Given the description of an element on the screen output the (x, y) to click on. 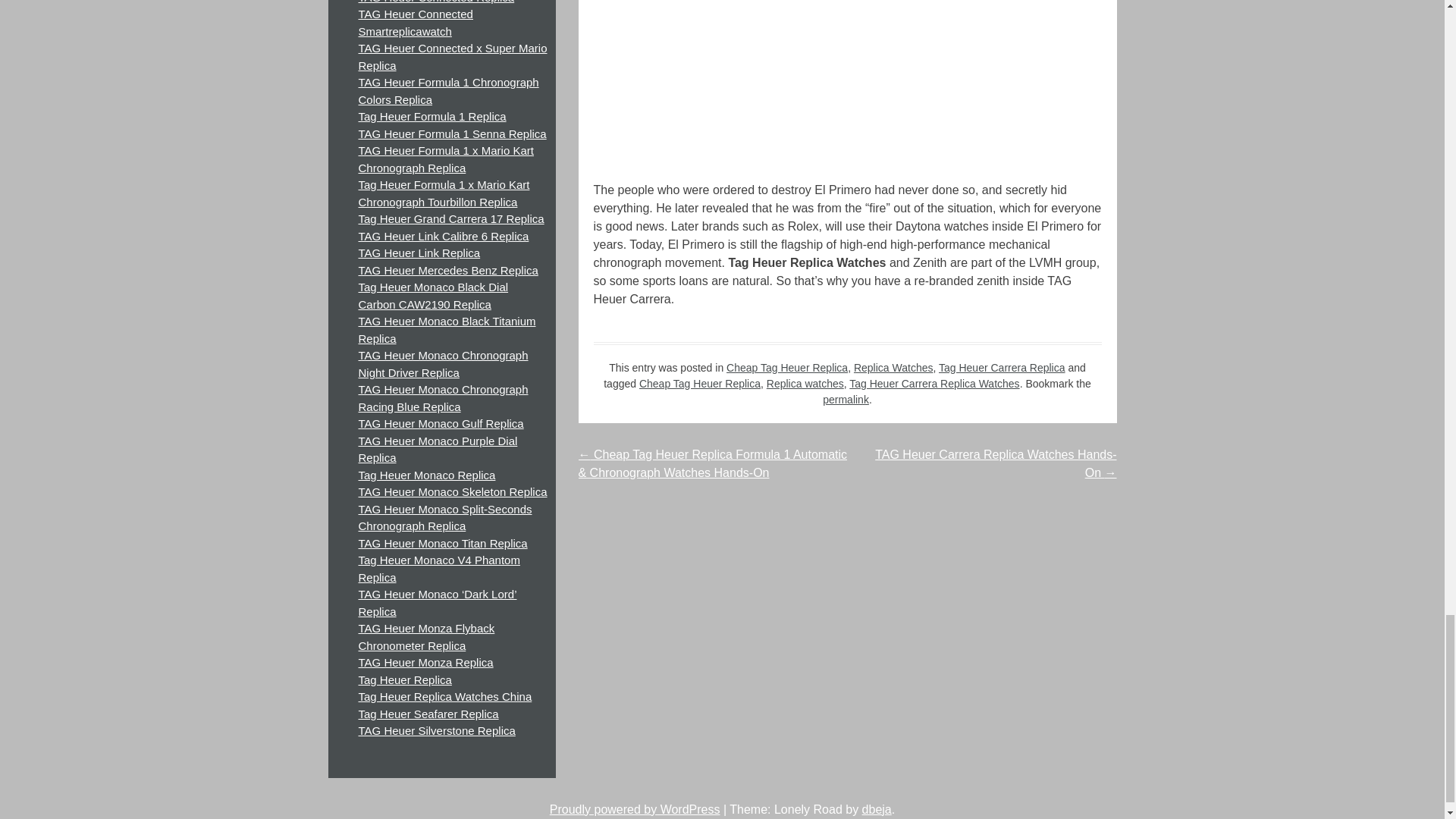
permalink (845, 399)
Replica Watches (893, 367)
Cheap Tag Heuer Replica (699, 383)
Replica watches (805, 383)
Tag Heuer Carrera Replica Watches (933, 383)
Tag Heuer Carrera Replica (1002, 367)
Cheap Tag Heuer Replica (786, 367)
